Given the description of an element on the screen output the (x, y) to click on. 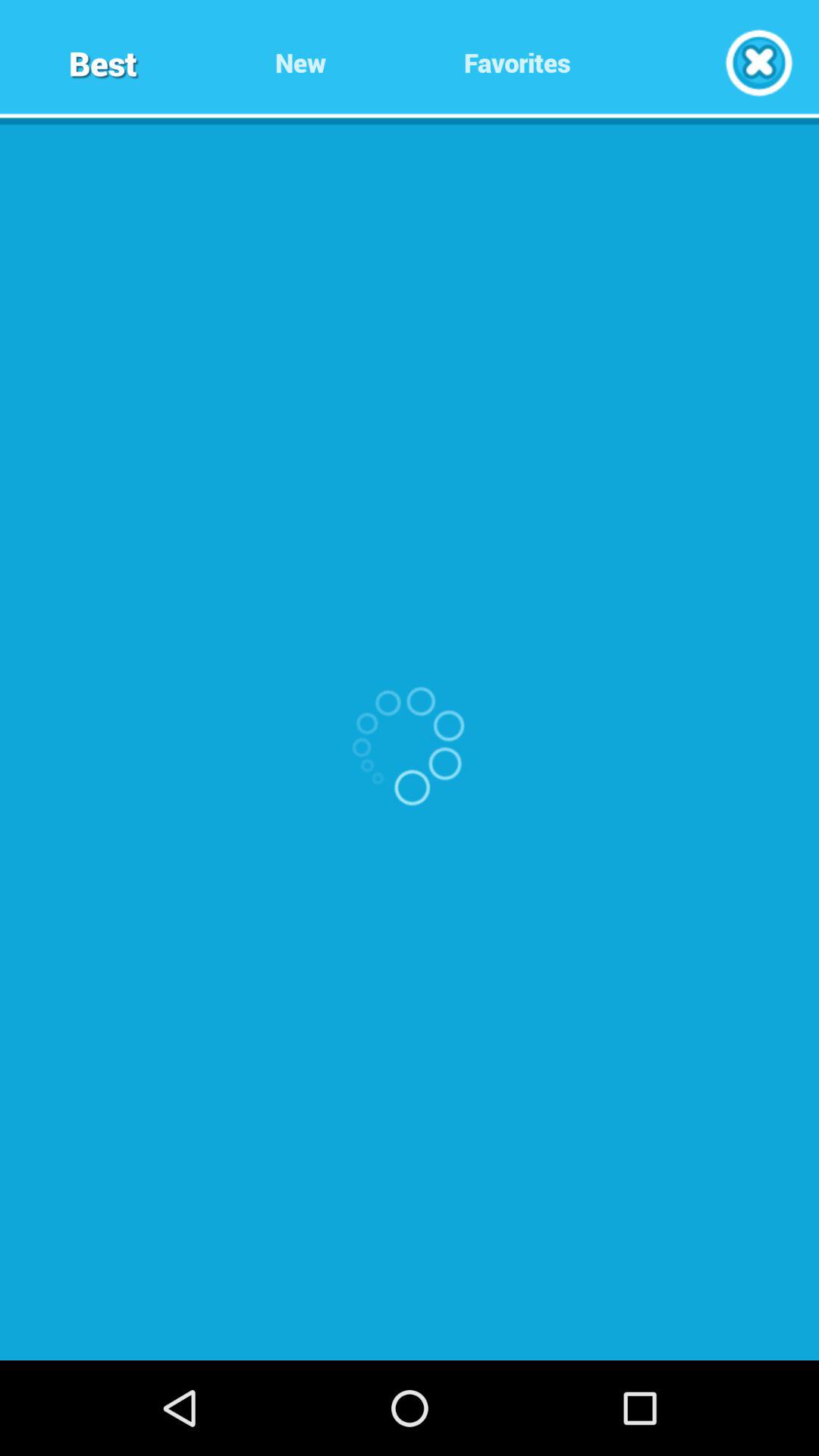
exit window (758, 62)
